Given the description of an element on the screen output the (x, y) to click on. 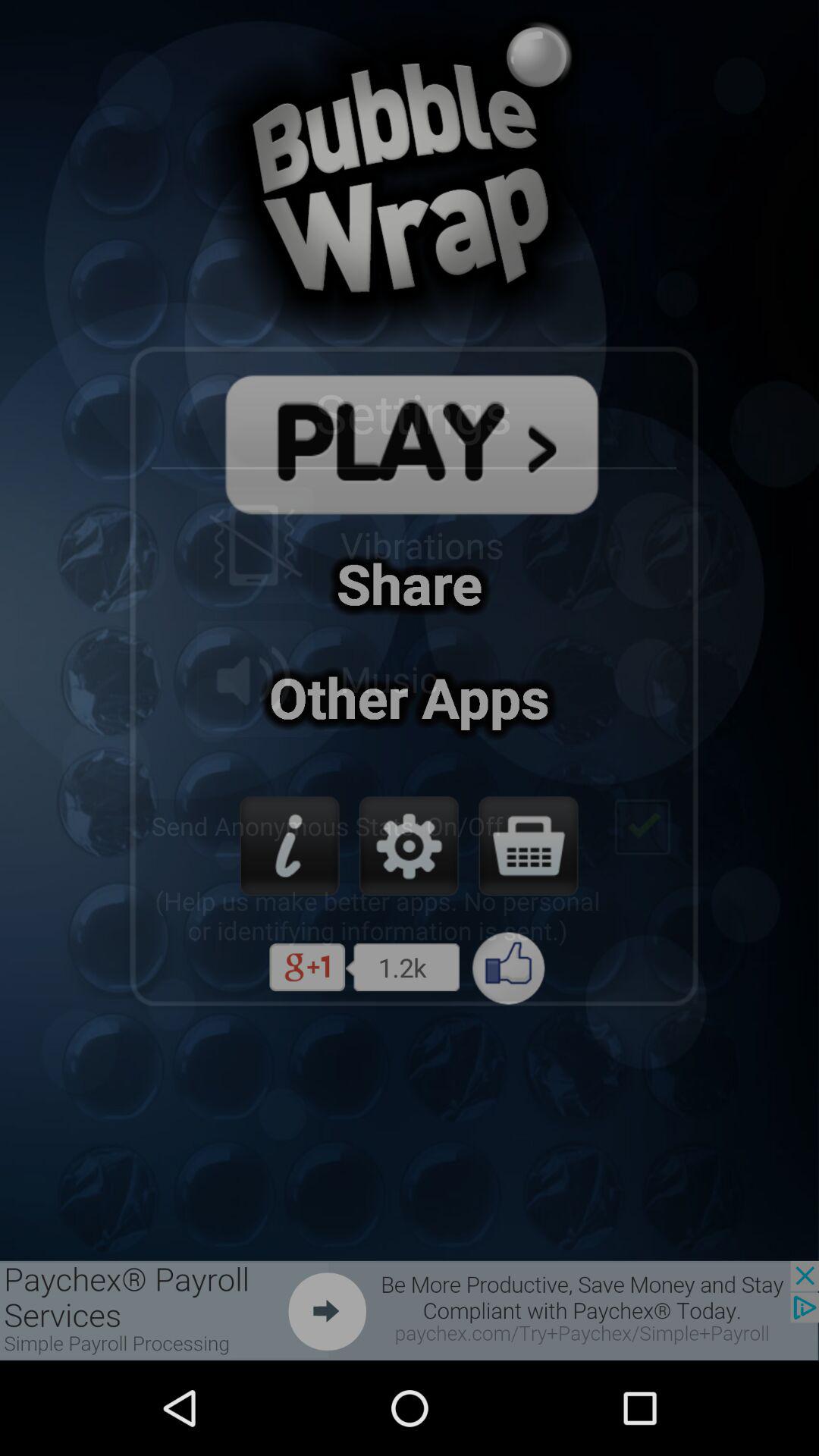
advertisement banner (409, 1310)
